Given the description of an element on the screen output the (x, y) to click on. 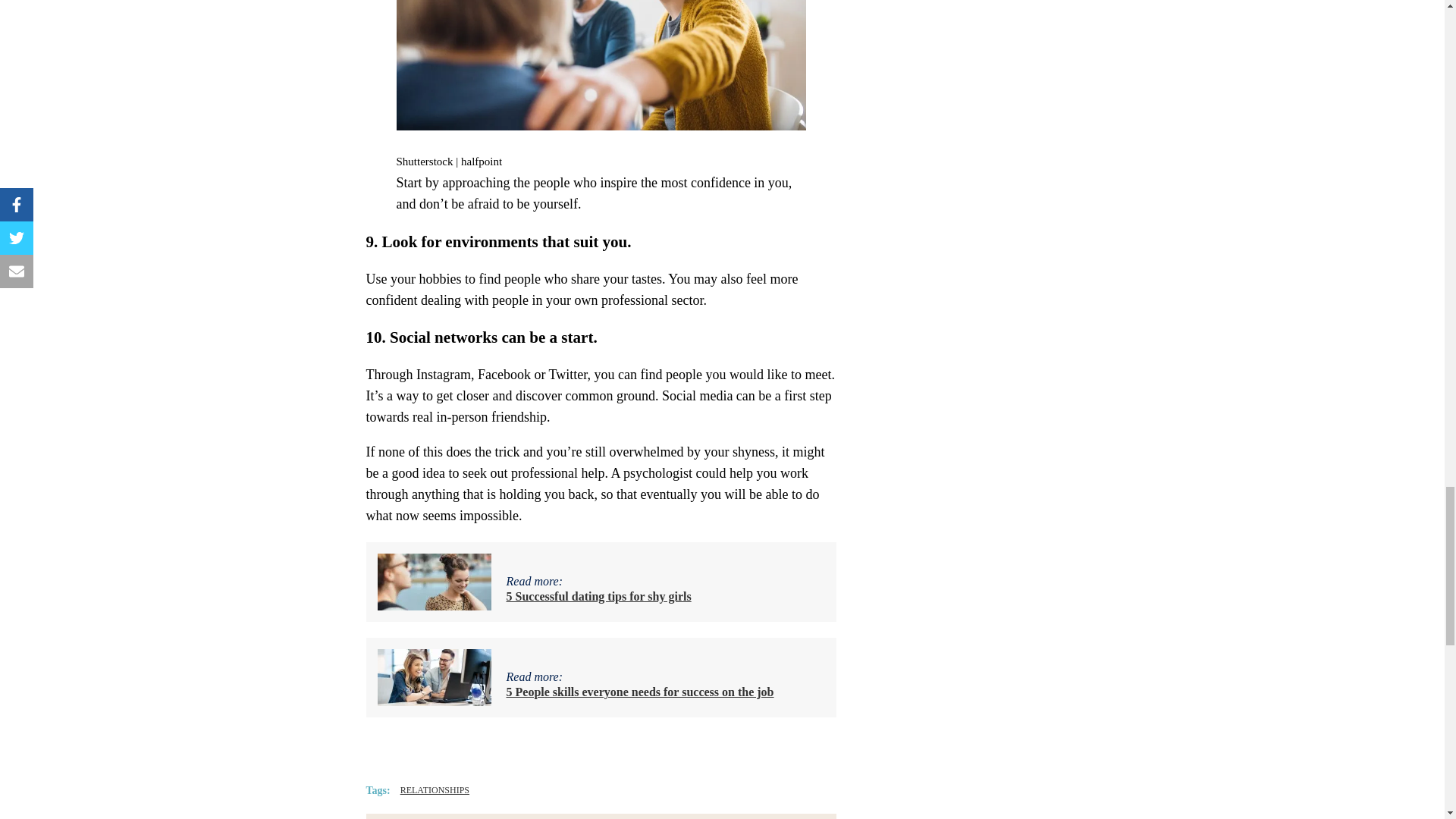
5 People skills everyone needs for success on the job (640, 691)
5 Successful dating tips for shy girls (598, 595)
